Given the description of an element on the screen output the (x, y) to click on. 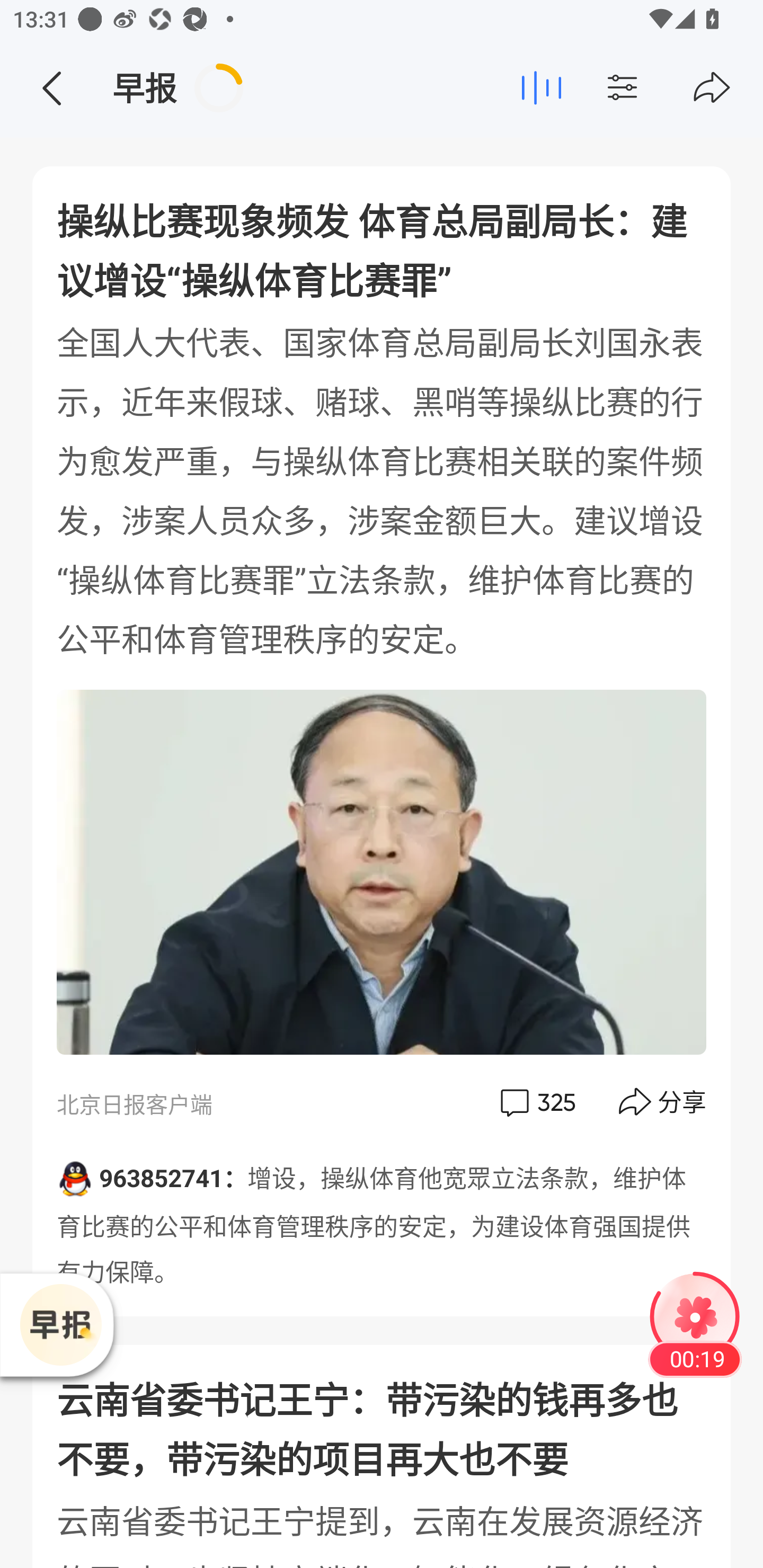
 (50, 87)
 (656, 87)
 (711, 87)
评论  325 (536, 1101)
 分享 (663, 1101)
播放器 (60, 1324)
